Given the description of an element on the screen output the (x, y) to click on. 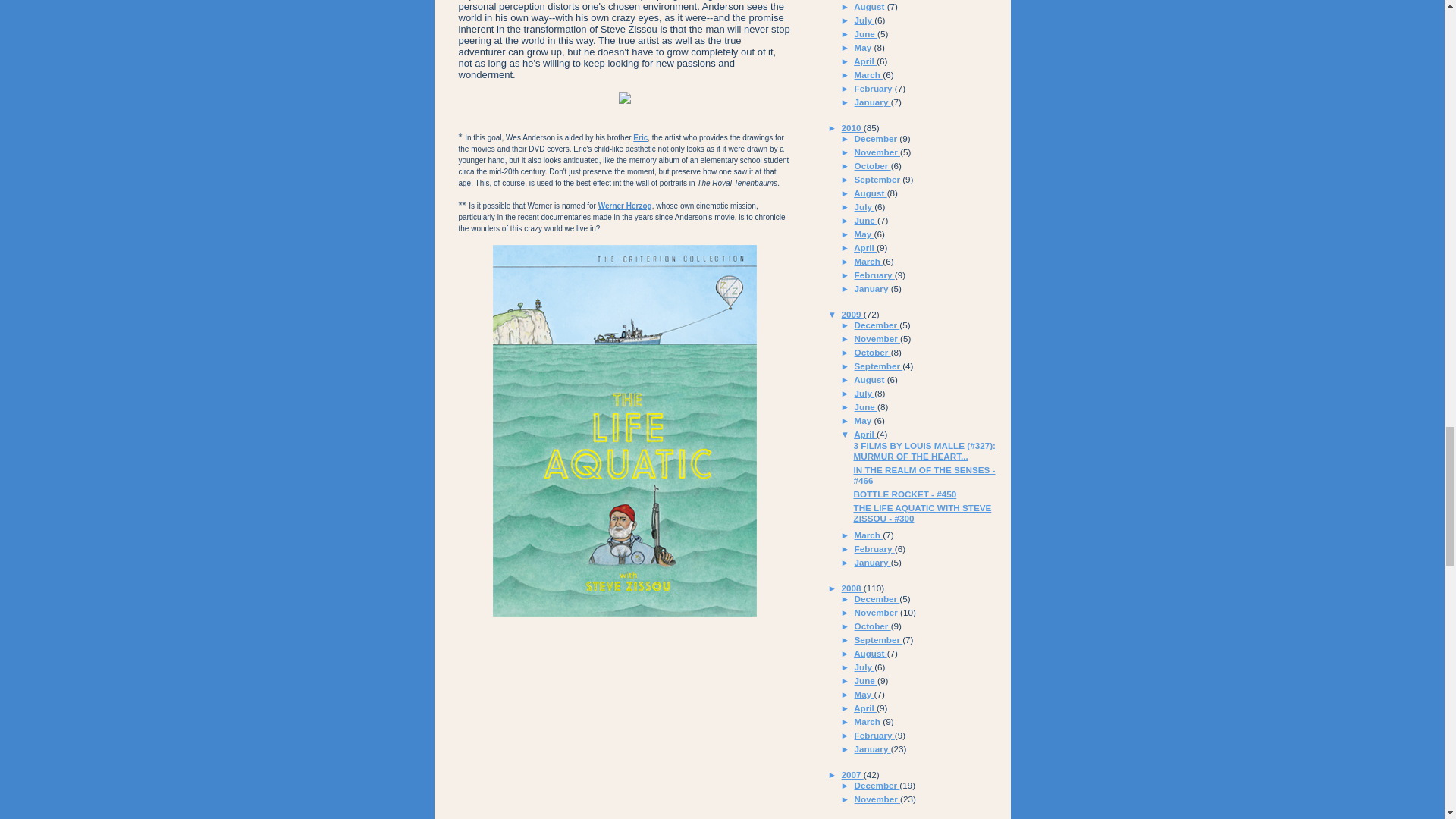
Werner Herzog (625, 205)
Eric (640, 137)
